Given the description of an element on the screen output the (x, y) to click on. 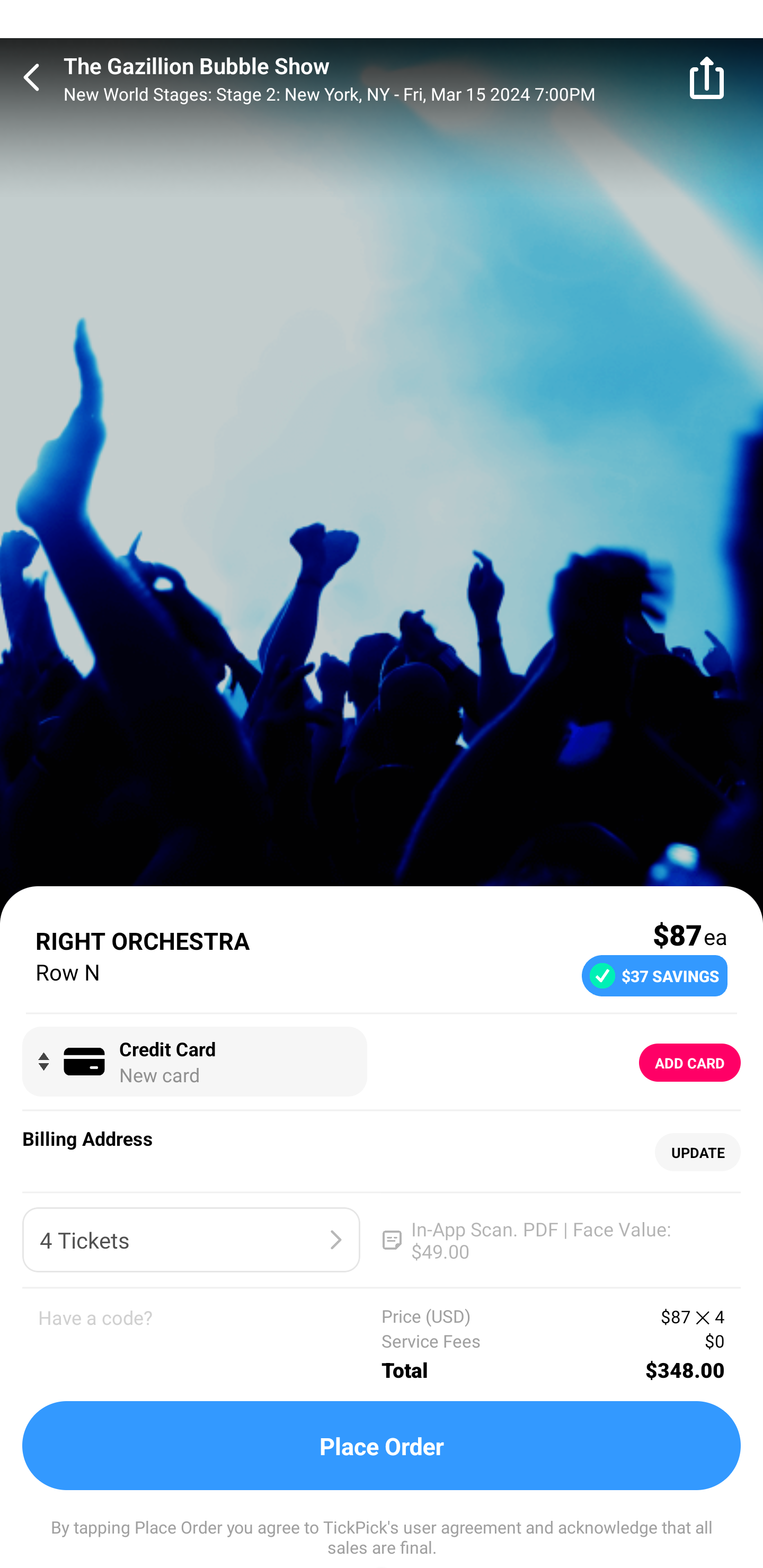
$37 SAVINGS (654, 974)
Credit Card, New card Credit Card New card (194, 1061)
ADD CARD (689, 1062)
UPDATE (697, 1152)
4 Tickets (191, 1239)
In-App Scan. PDF | Face Value: $49.00 (552, 1239)
Have a code? (209, 1344)
Place Order (381, 1445)
